Given the description of an element on the screen output the (x, y) to click on. 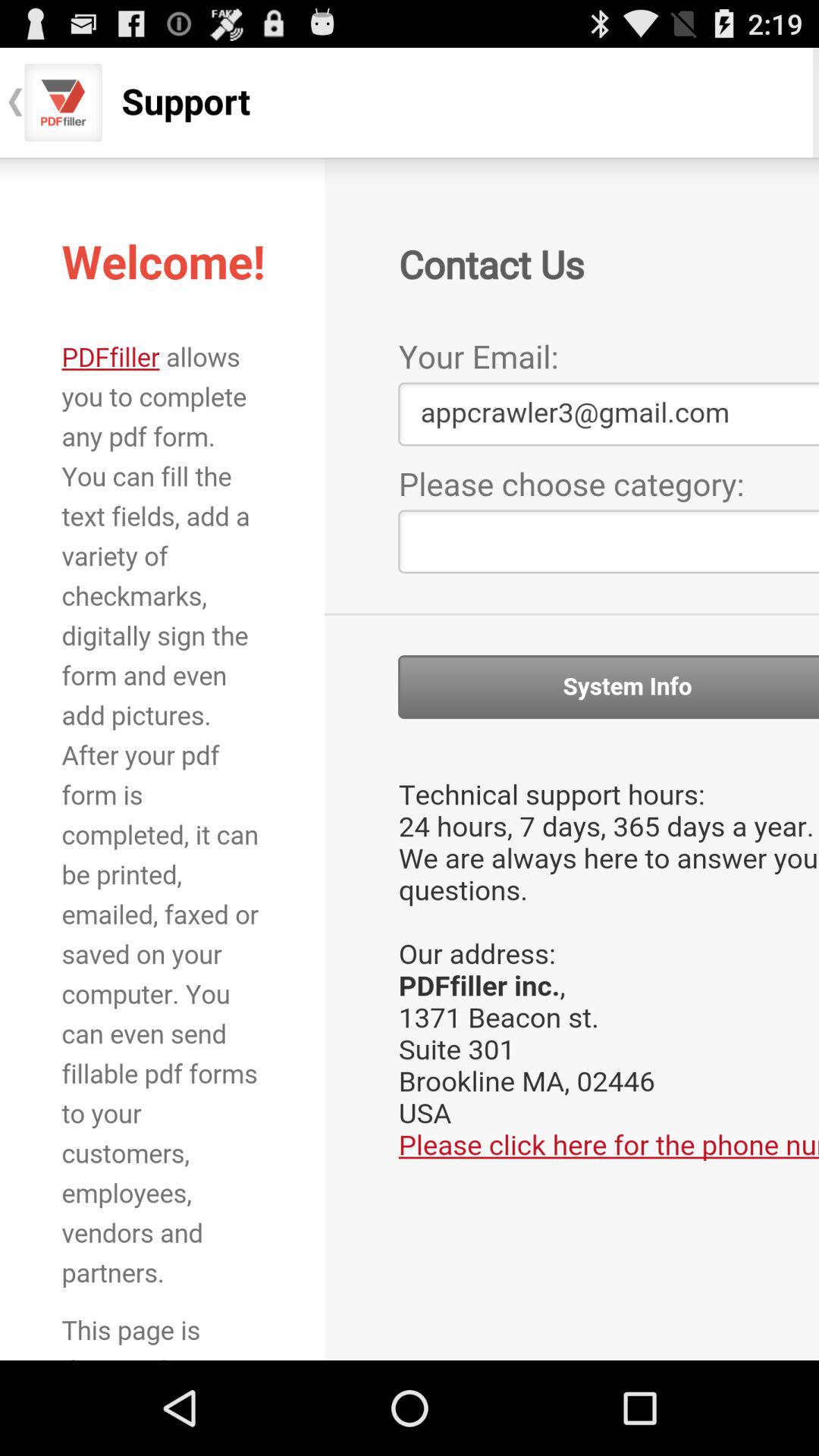
main page (409, 758)
